Given the description of an element on the screen output the (x, y) to click on. 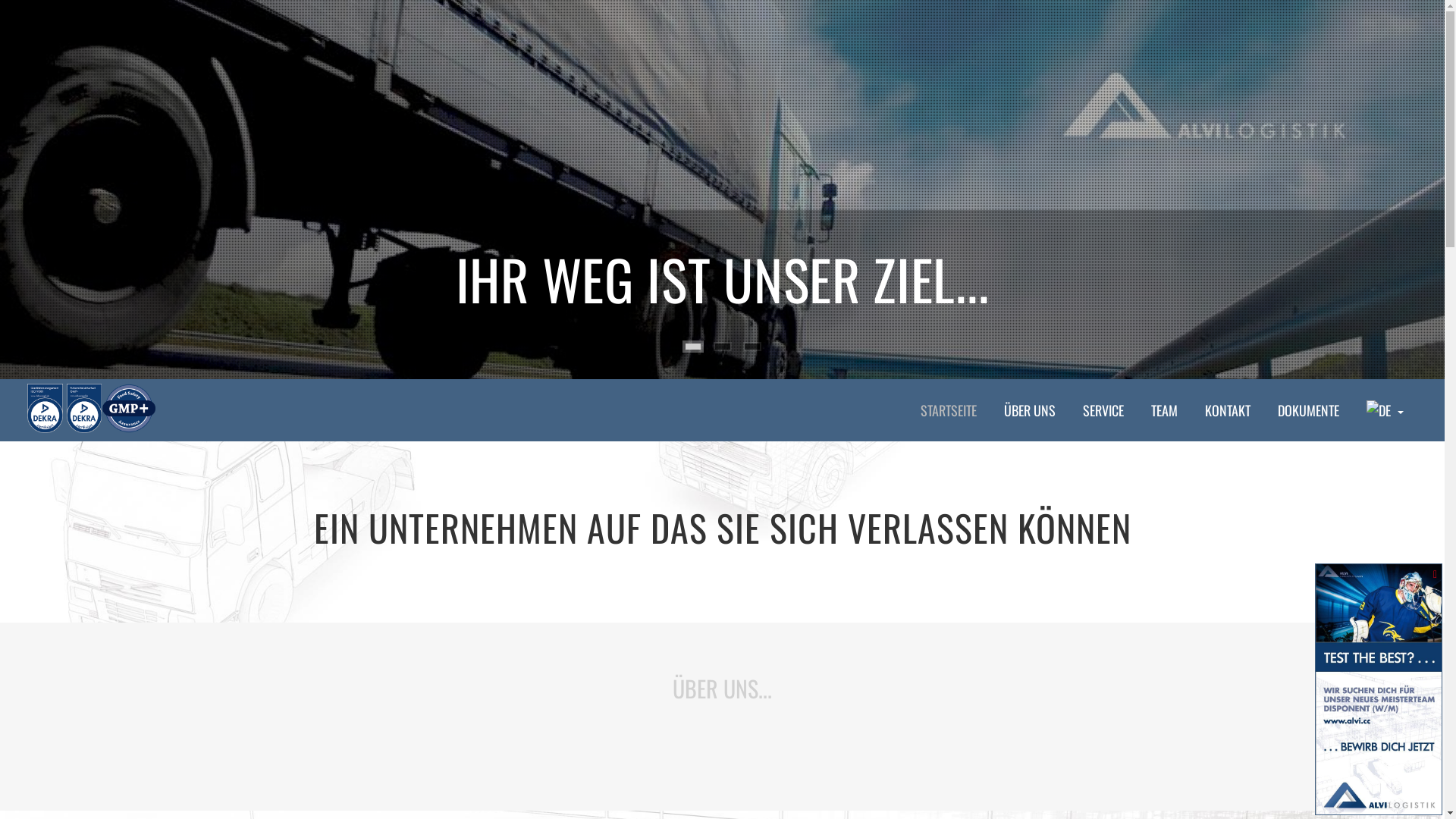
DOKUMENTE Element type: text (1308, 410)
KONTAKT Element type: text (1227, 410)
TEAM Element type: text (1164, 410)
STARTSEITE Element type: text (948, 410)
SERVICE Element type: text (1103, 410)
Deutsch Element type: hover (1378, 410)
